Given the description of an element on the screen output the (x, y) to click on. 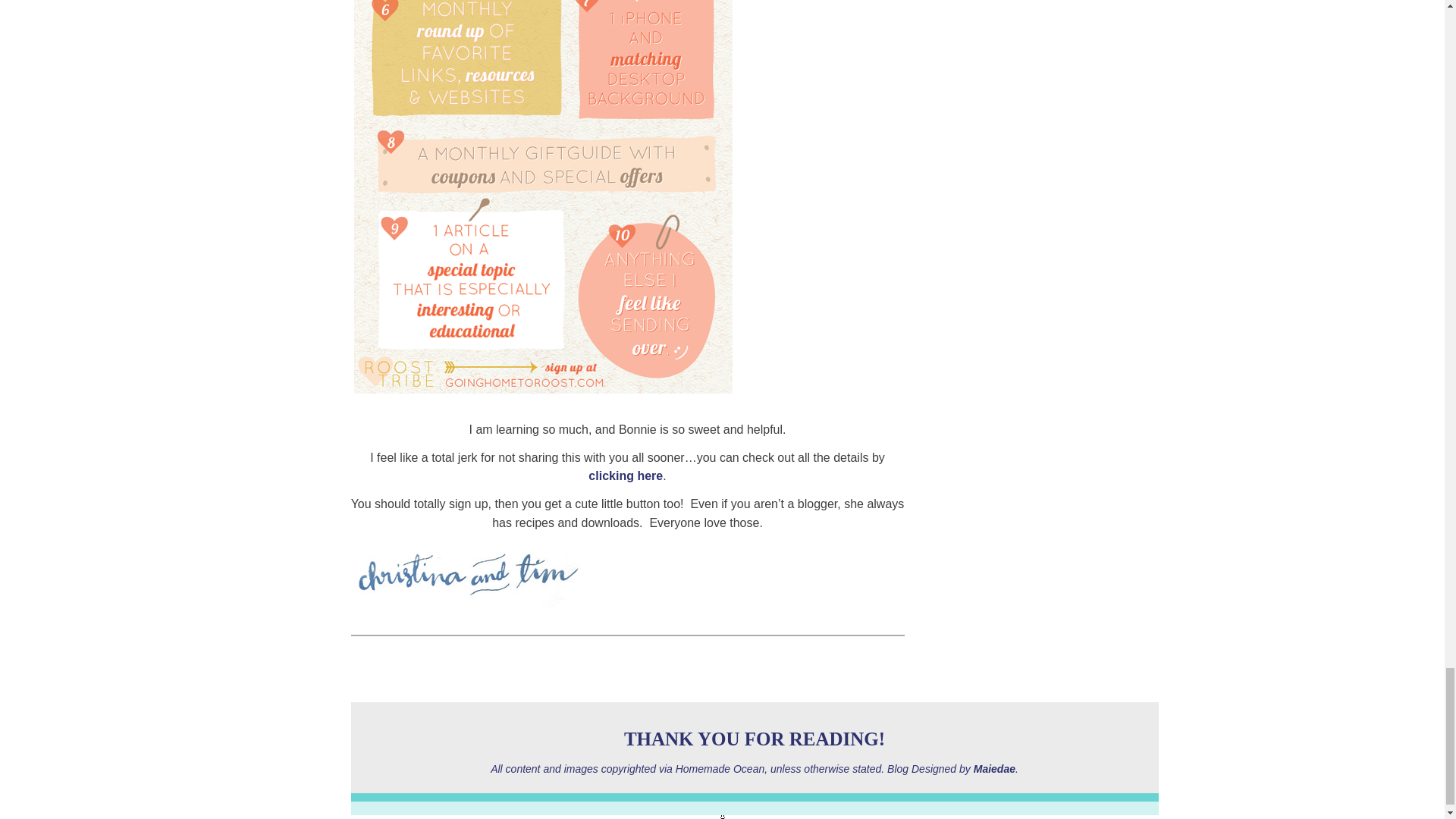
MaieDae (994, 768)
